Given the description of an element on the screen output the (x, y) to click on. 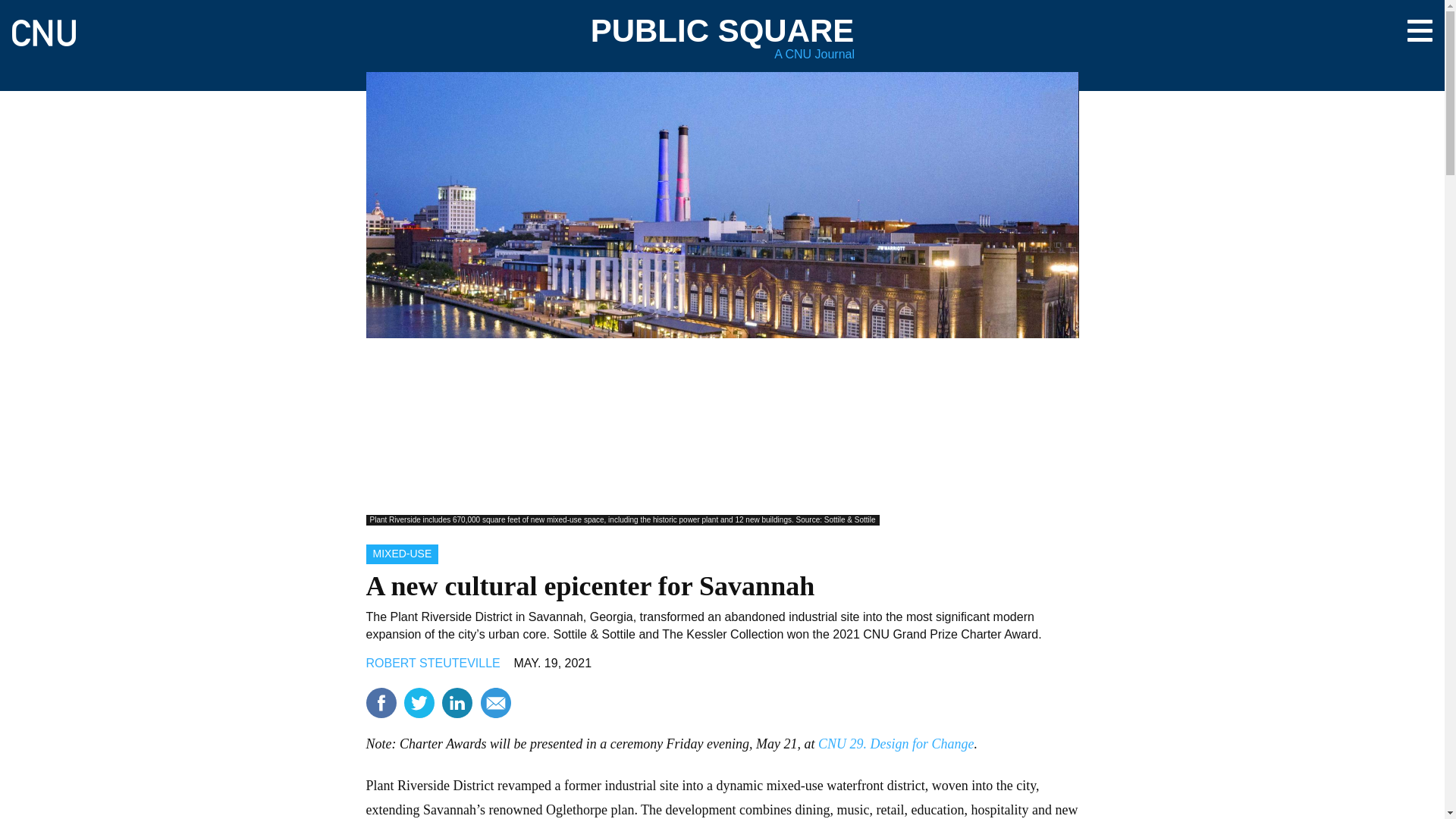
Toggle navigation (1419, 30)
ROBERT STEUTEVILLE (432, 662)
MIXED-USE (401, 554)
CNU 29. Design for Change (896, 743)
PUBLIC SQUARE (722, 30)
MailTo (495, 702)
Home (43, 25)
Facebook (380, 702)
Twitter (418, 702)
